Given the description of an element on the screen output the (x, y) to click on. 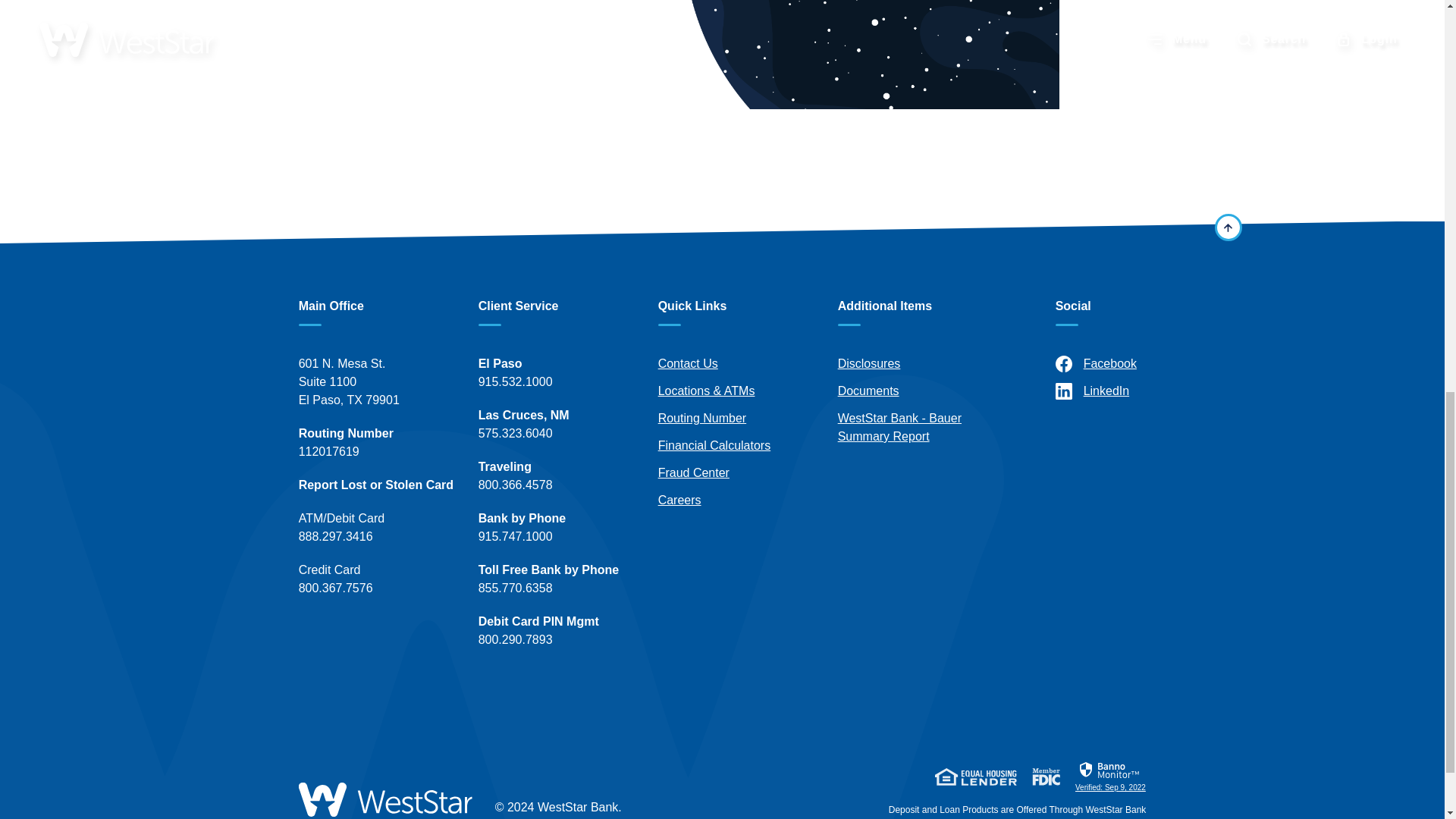
LinkedIn (1133, 391)
Equal Housing Lender (975, 776)
Facebook (1133, 363)
Member FDIC (1045, 776)
Scroll to Top of Page (1227, 226)
WestStar Bank, El Paso, TX (384, 799)
Monitor Scan Details (1110, 775)
Scanned by Banno Monitor (1110, 770)
